Given the description of an element on the screen output the (x, y) to click on. 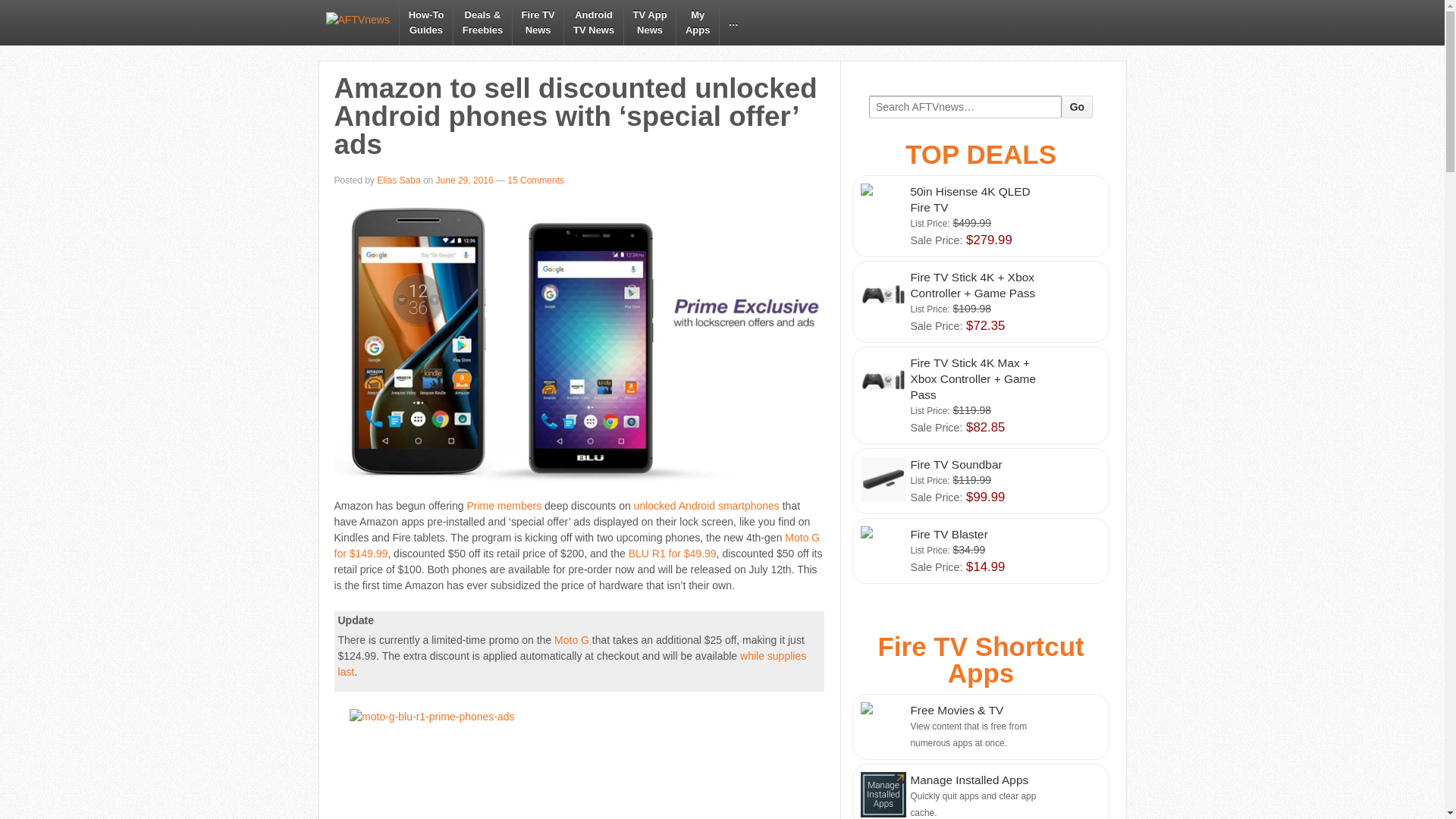
15 Comments (593, 22)
Moto G (425, 22)
Prime members (697, 22)
Elias Saba (537, 22)
Go (534, 180)
About Elias Saba (571, 639)
June 29, 2016 (649, 22)
50in Hisense 4K QLED Fire TV (503, 505)
unlocked Android smartphones (398, 180)
while supplies last (1077, 106)
